Given the description of an element on the screen output the (x, y) to click on. 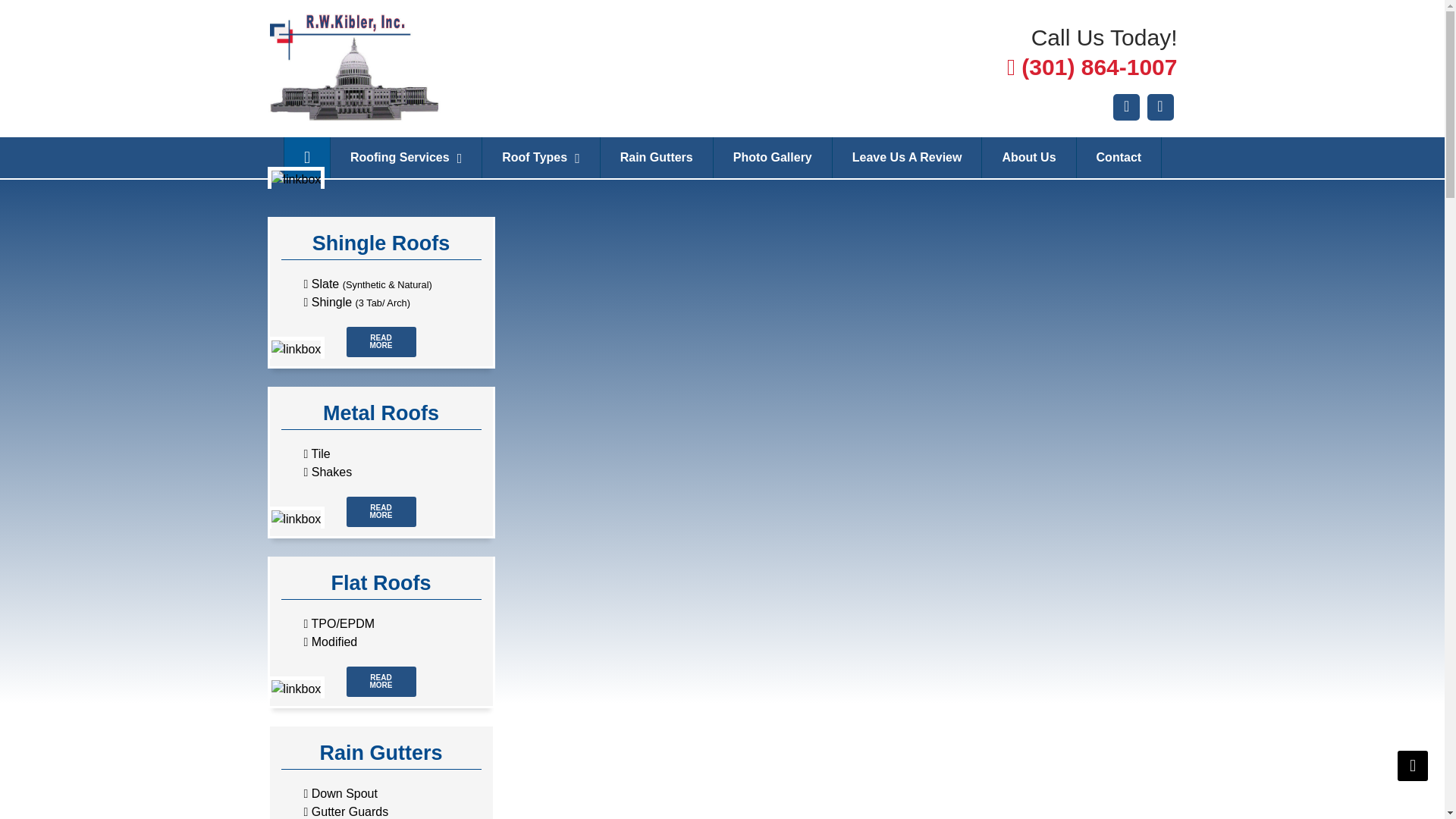
About Us (1028, 157)
About Us (1028, 157)
Roofing Services (405, 157)
Leave Us A Review (906, 157)
Rain Gutters (656, 157)
Back to the Top (1412, 766)
Home (306, 157)
Roof Types (380, 454)
Contact (540, 157)
